Given the description of an element on the screen output the (x, y) to click on. 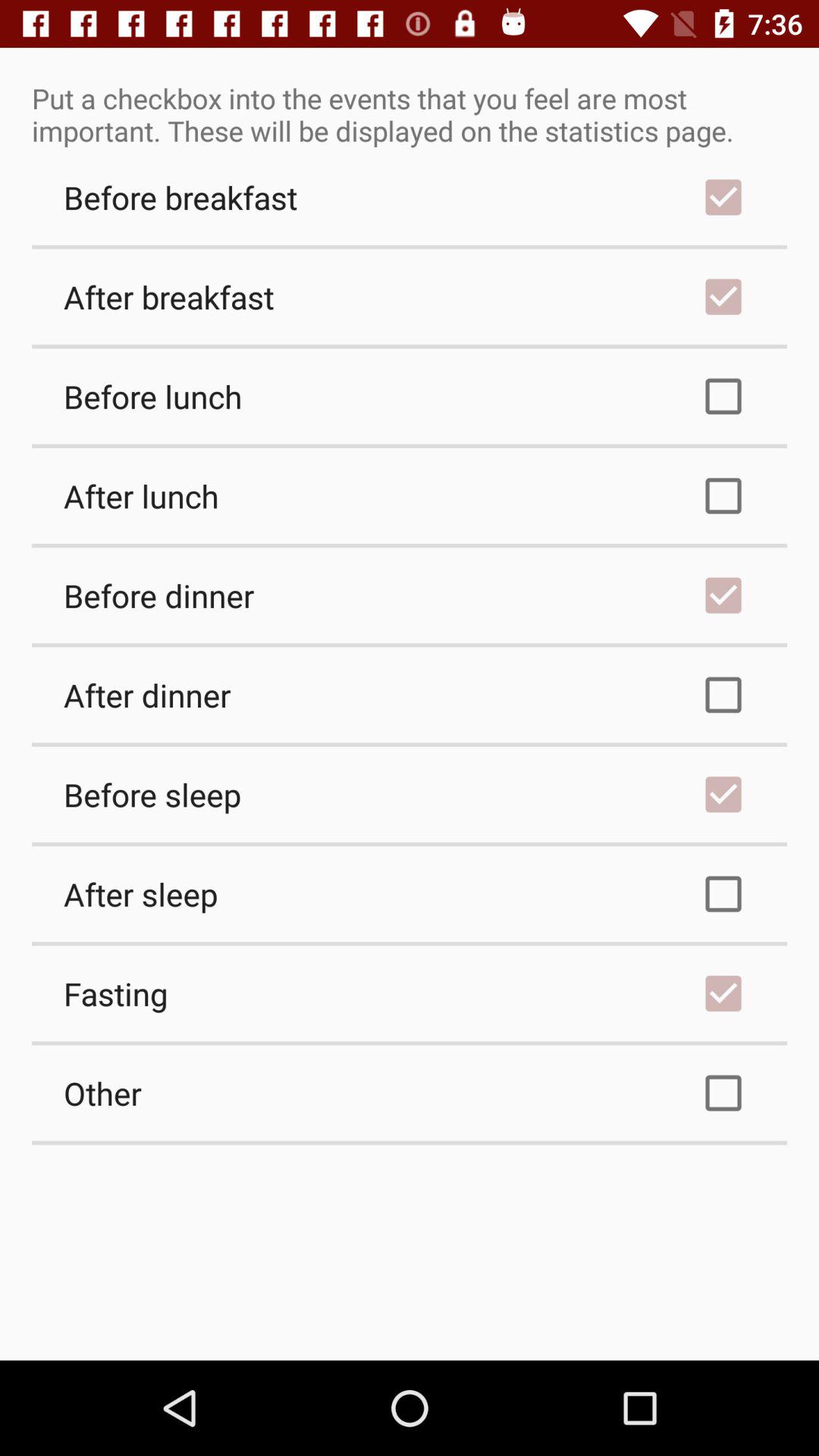
click the after lunch item (409, 495)
